Given the description of an element on the screen output the (x, y) to click on. 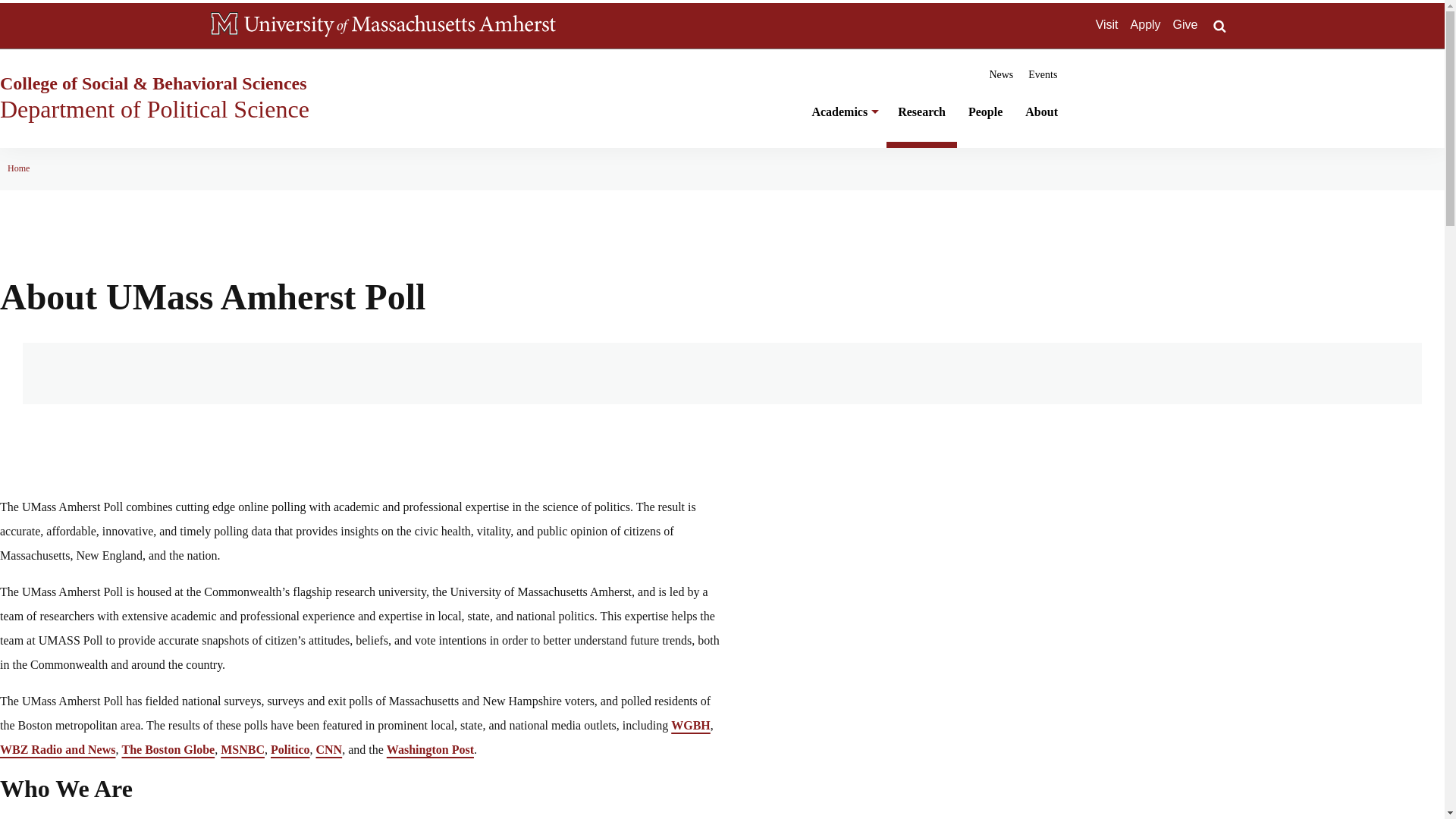
UMass Collegiate M (224, 25)
WGBH (690, 725)
WBZ Radio and News (57, 748)
Search UMass.edu (1218, 26)
UMass Amherst (400, 25)
Washington Post (430, 748)
UMass Collegiate M (224, 23)
Give (1185, 24)
Department of Political Science (154, 108)
News (1000, 74)
Apply (1145, 24)
People (984, 120)
Politico (290, 748)
Home (18, 167)
